Given the description of an element on the screen output the (x, y) to click on. 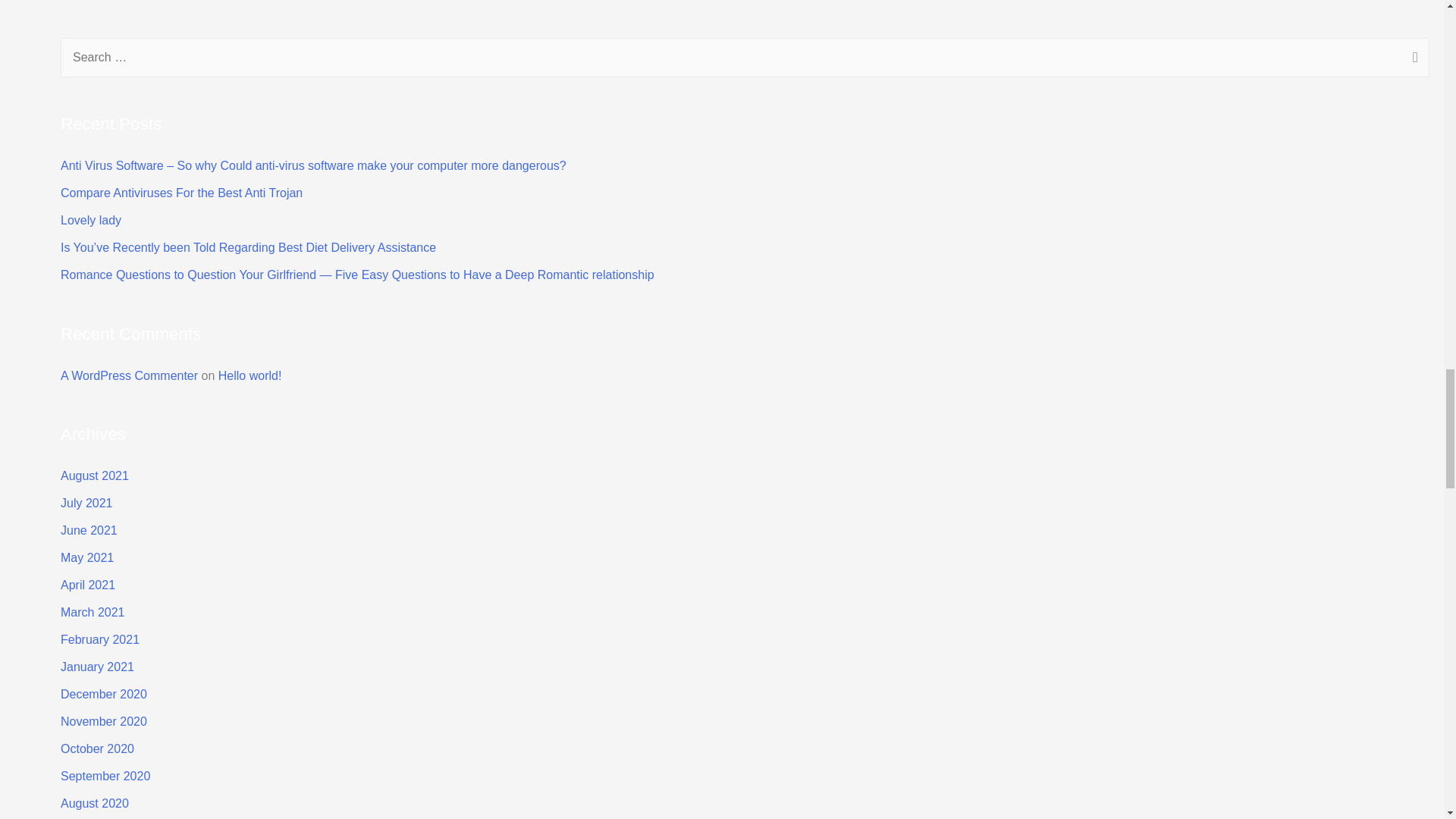
Hello world! (250, 375)
January 2021 (97, 666)
Lovely lady (90, 219)
March 2021 (93, 612)
August 2021 (95, 475)
October 2020 (97, 748)
June 2021 (89, 530)
April 2021 (88, 584)
July 2021 (87, 502)
September 2020 (105, 775)
May 2021 (87, 557)
August 2020 (95, 802)
December 2020 (104, 694)
Compare Antiviruses For the Best Anti Trojan (181, 192)
February 2021 (100, 639)
